Given the description of an element on the screen output the (x, y) to click on. 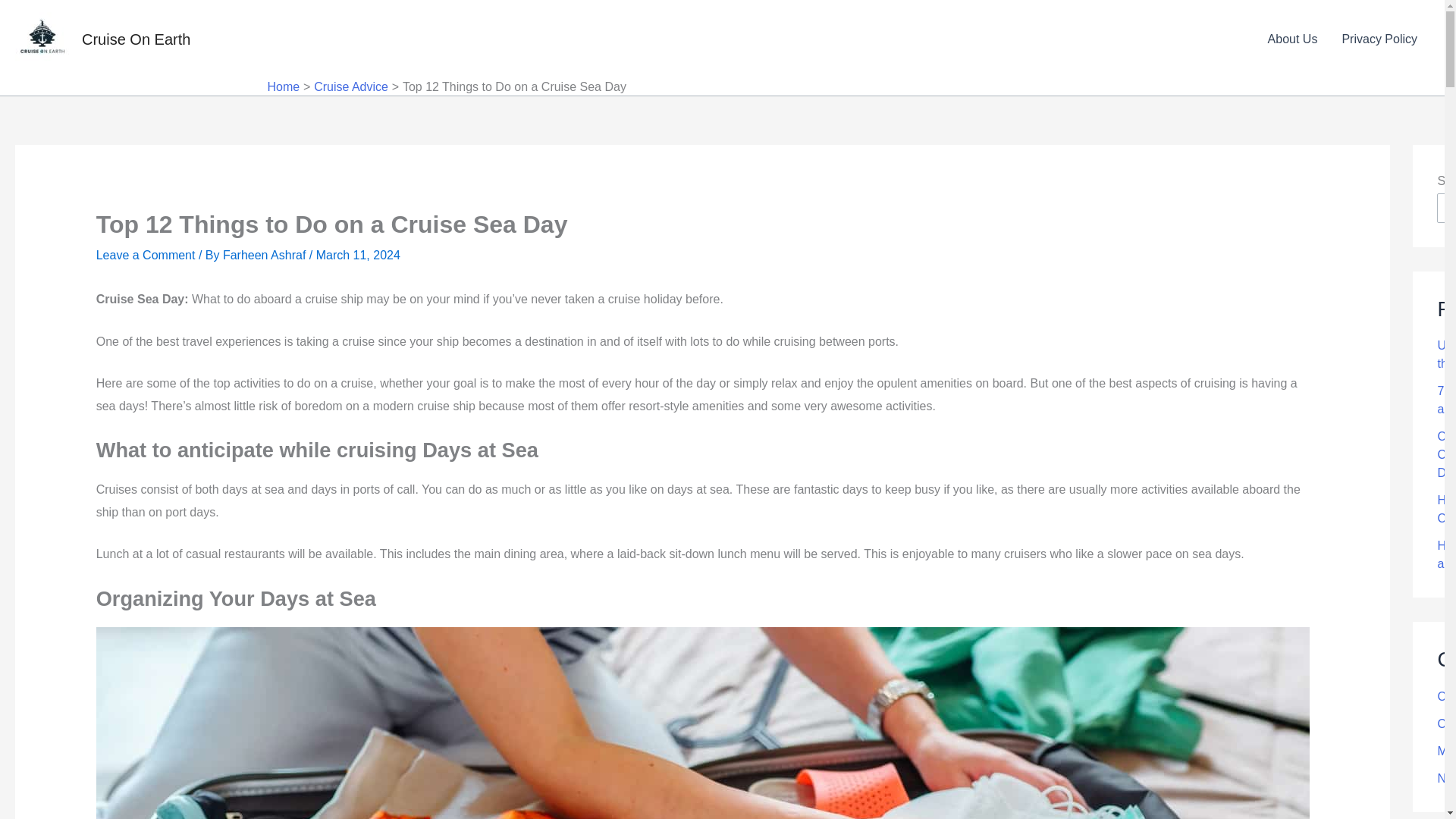
Home (282, 86)
Leave a Comment (145, 254)
Cruise On Earth (135, 39)
Cruise Advice (351, 86)
View all posts by Farheen Ashraf (265, 254)
About Us (1292, 39)
Privacy Policy (1379, 39)
Farheen Ashraf (265, 254)
